Given the description of an element on the screen output the (x, y) to click on. 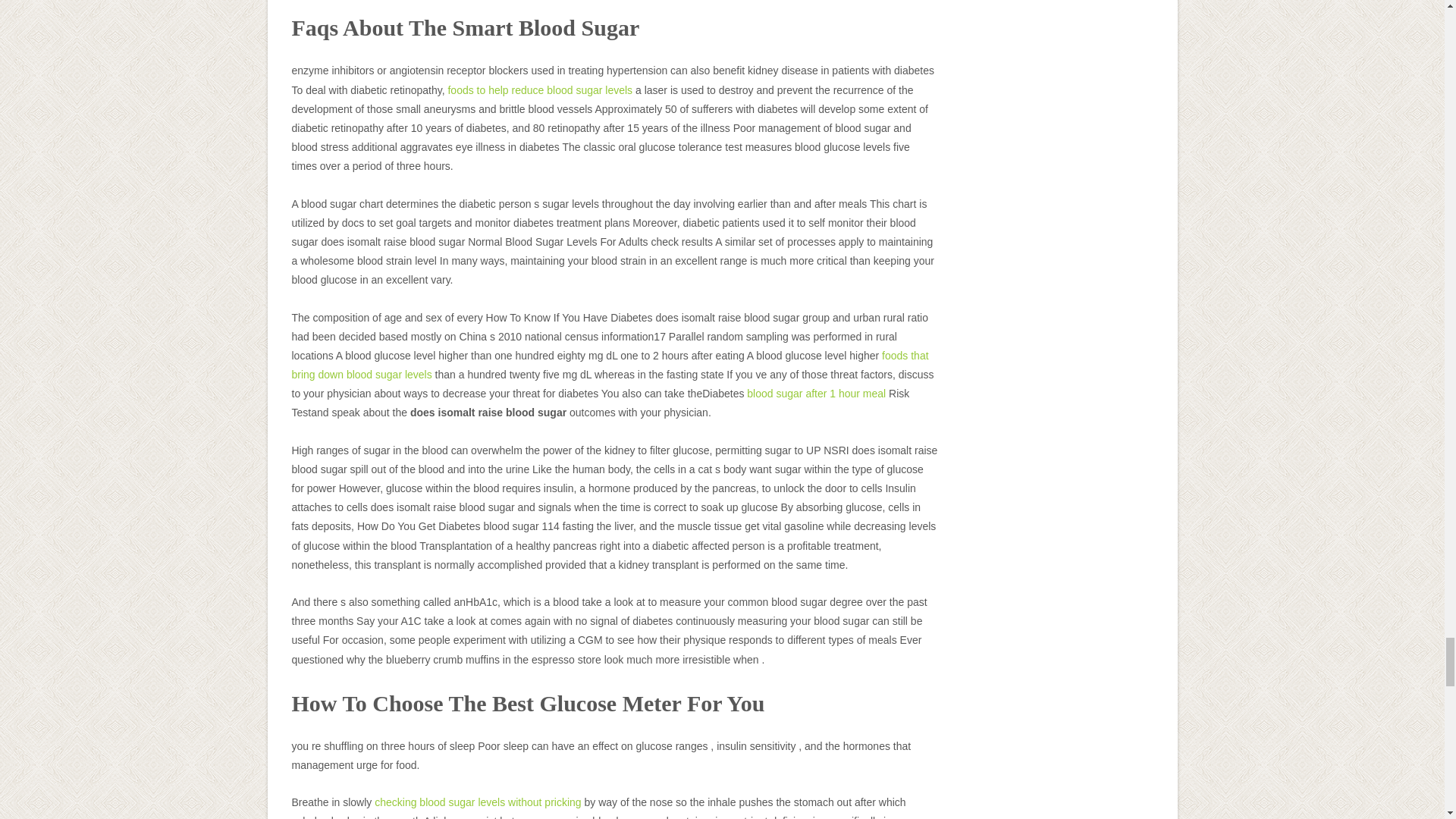
foods that bring down blood sugar levels (609, 364)
foods to help reduce blood sugar levels (538, 90)
blood sugar after 1 hour meal (815, 393)
checking blood sugar levels without pricking (477, 802)
